Given the description of an element on the screen output the (x, y) to click on. 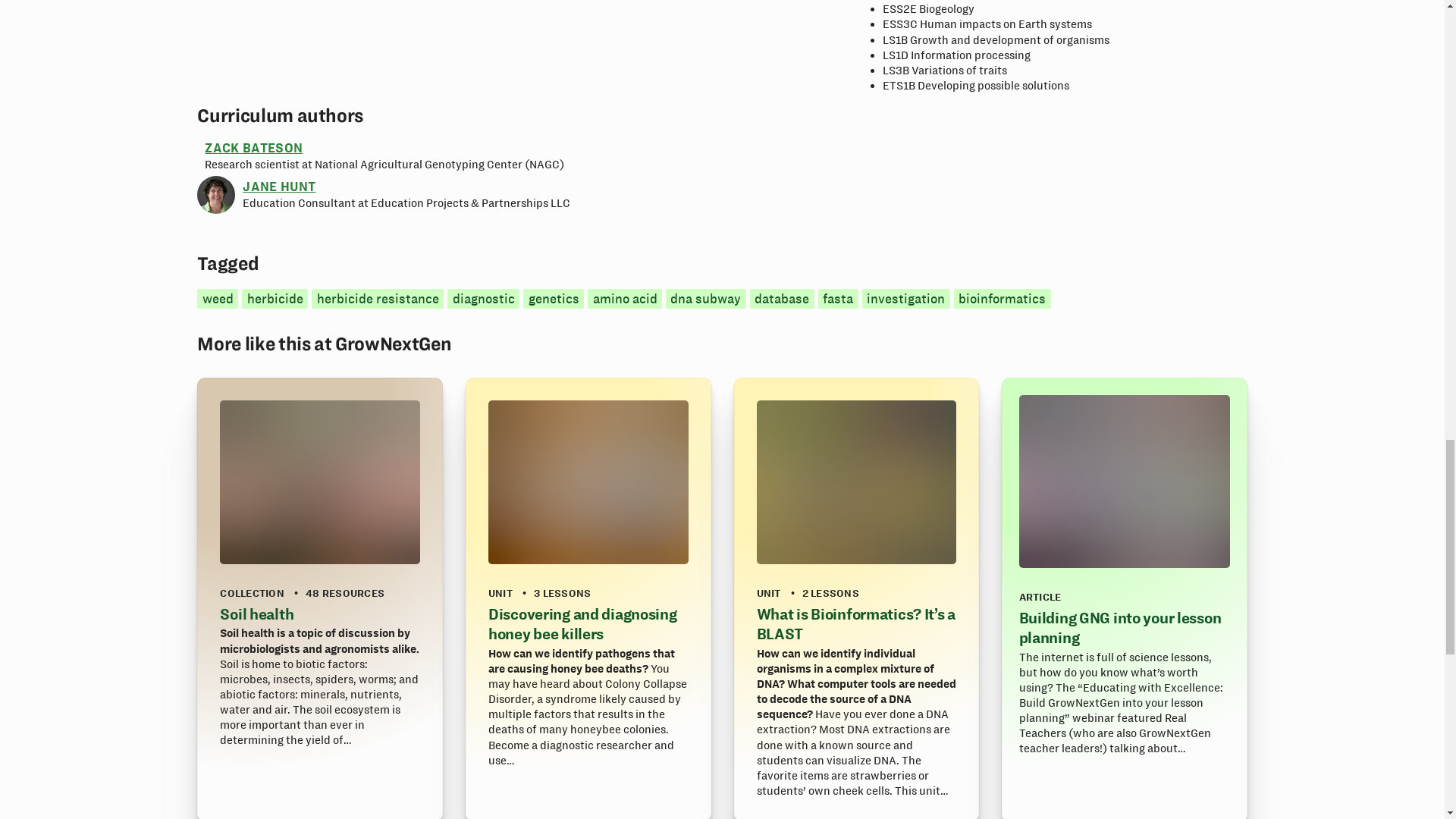
weed (217, 298)
JANE HUNT (279, 186)
ZACK BATESON (253, 147)
herbicide (274, 298)
